Given the description of an element on the screen output the (x, y) to click on. 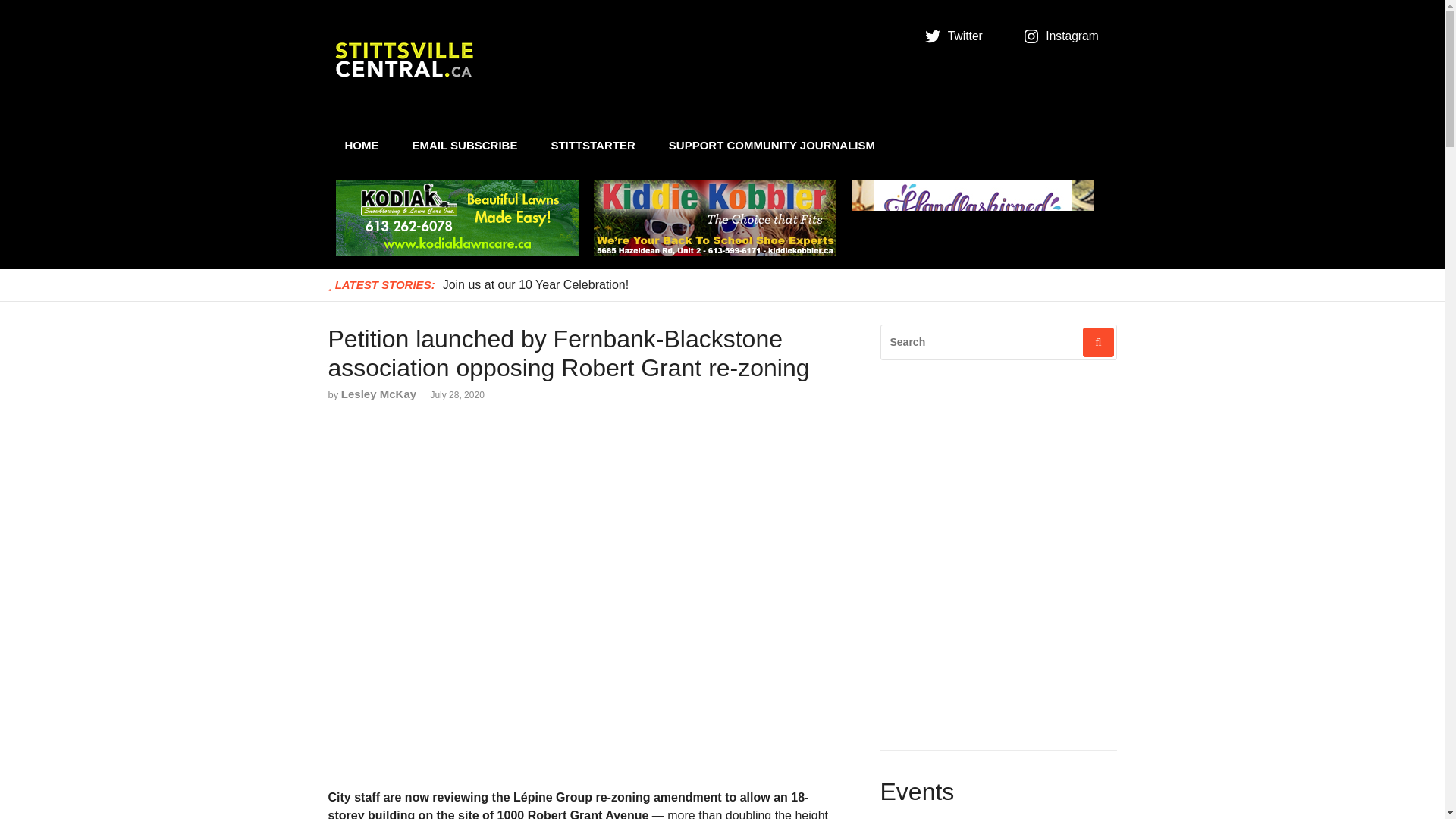
Lesley McKay (378, 393)
Twitter (956, 35)
EMAIL SUBSCRIBE (465, 146)
SUPPORT COMMUNITY JOURNALISM (771, 146)
STITTSTARTER (592, 146)
Instagram (1063, 35)
Join us at our 10 Year Celebration! (535, 283)
Join us at our 10 Year Celebration! (535, 283)
HOME (360, 146)
